Given the description of an element on the screen output the (x, y) to click on. 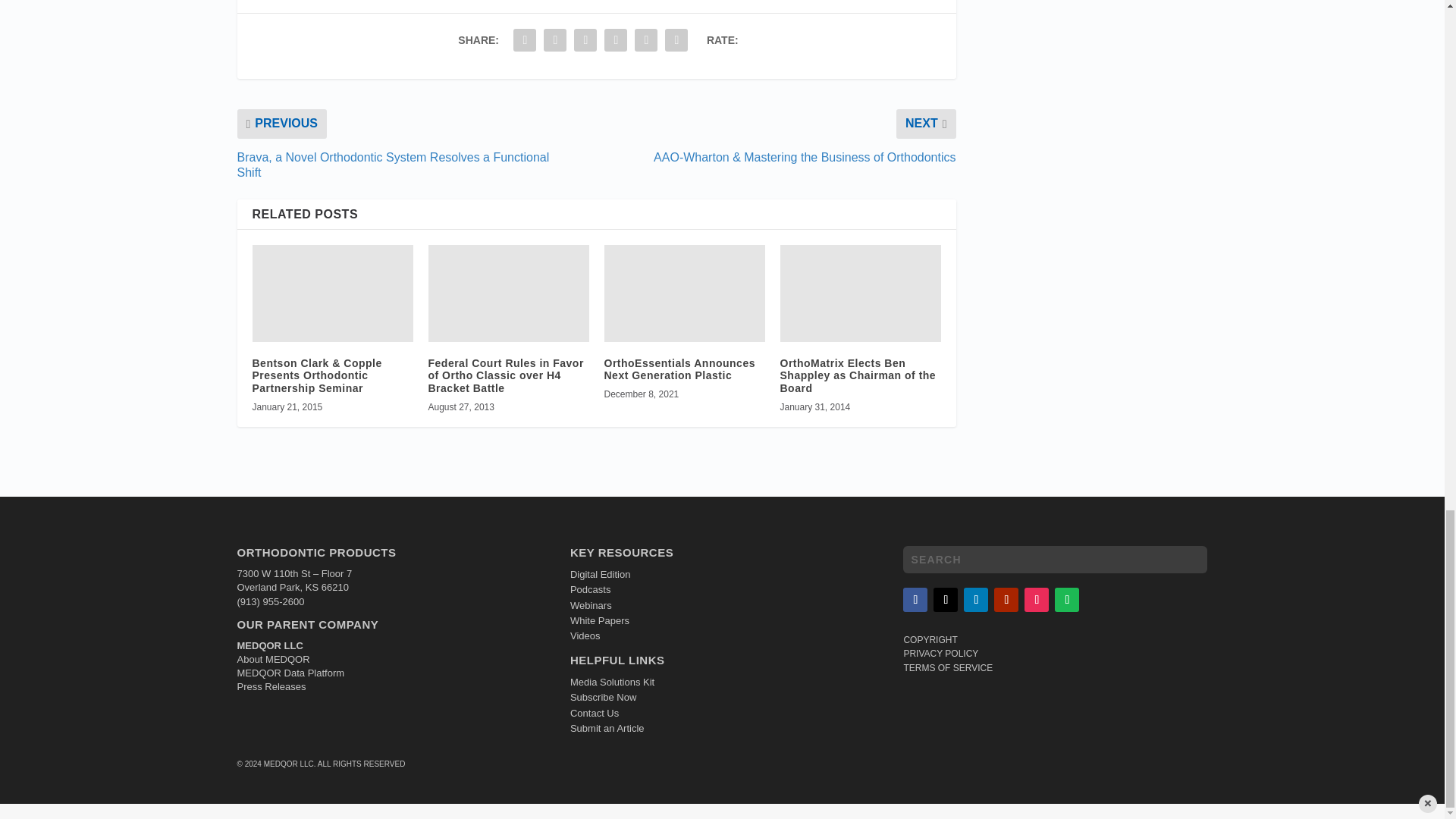
Share "PepperPointe Expands in Virginia Market" via Facebook (524, 40)
Share "PepperPointe Expands in Virginia Market" via LinkedIn (584, 40)
Share "PepperPointe Expands in Virginia Market" via Email (645, 40)
Share "PepperPointe Expands in Virginia Market" via Buffer (614, 40)
OrthoMatrix Elects Ben Shappley as Chairman of the Board (859, 292)
Share "PepperPointe Expands in Virginia Market" via Print (676, 40)
Share "PepperPointe Expands in Virginia Market" via Twitter (555, 40)
OrthoEssentials Announces Next Generation Plastic (684, 292)
